Given the description of an element on the screen output the (x, y) to click on. 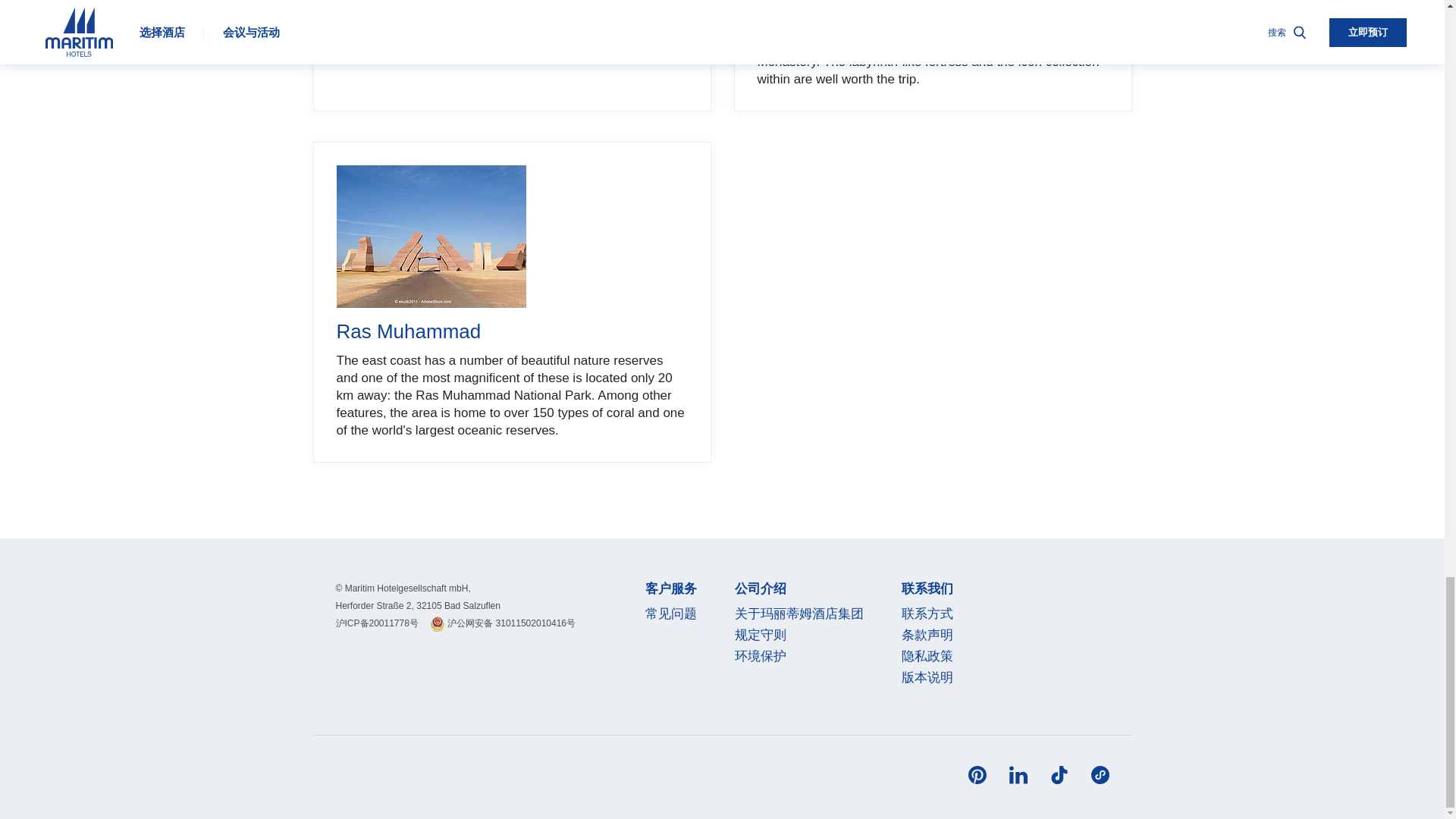
Ras Mohamed (430, 236)
